Given the description of an element on the screen output the (x, y) to click on. 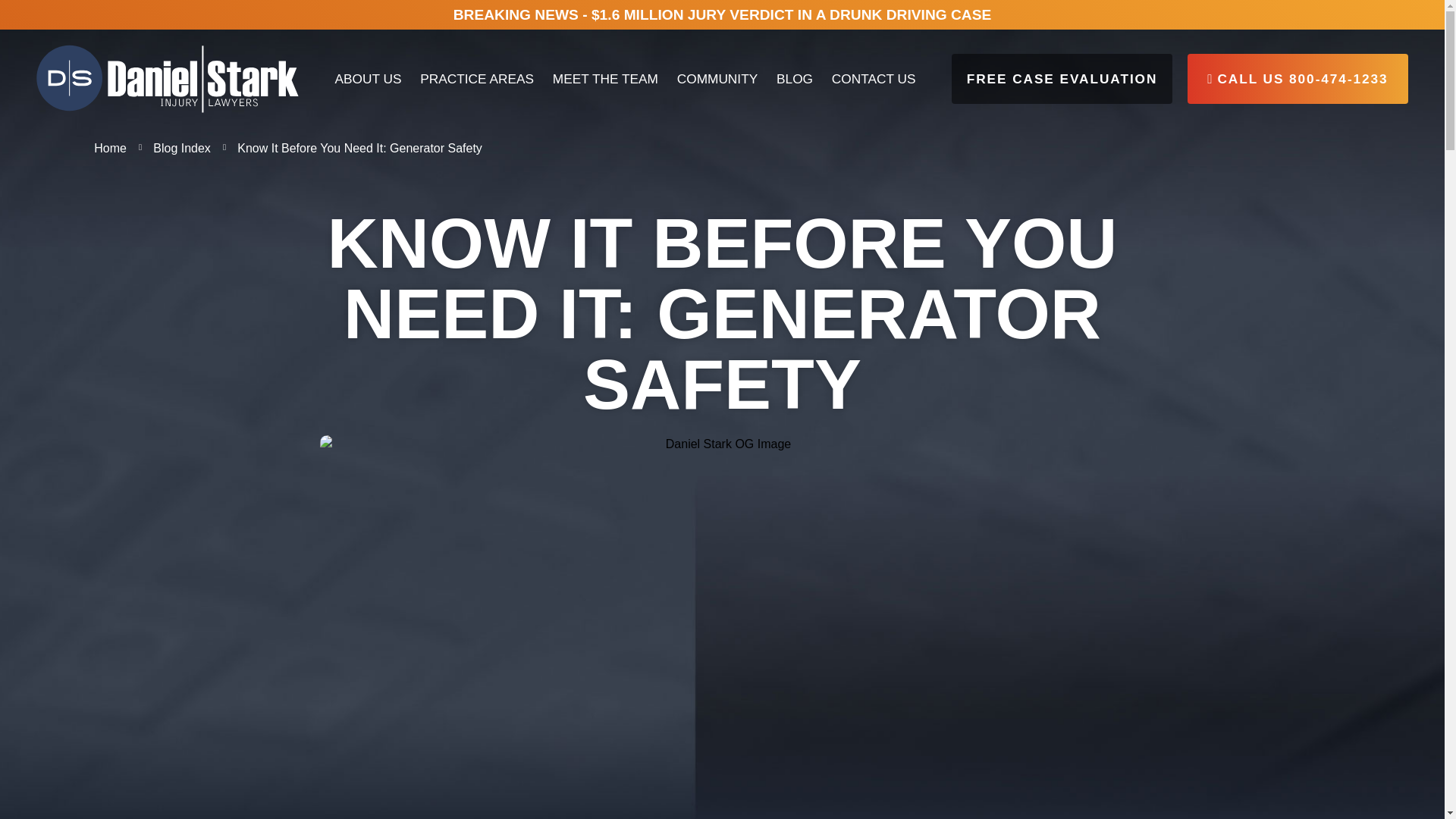
Blog Index (174, 148)
MEET THE TEAM (604, 78)
BLOG (794, 78)
ABOUT US (367, 78)
PRACTICE AREAS (476, 78)
FREE CASE EVALUATION (1062, 79)
CONTACT US (873, 78)
COMMUNITY (716, 78)
Home (110, 148)
CALL US 800-474-1233 (1297, 79)
